Given the description of an element on the screen output the (x, y) to click on. 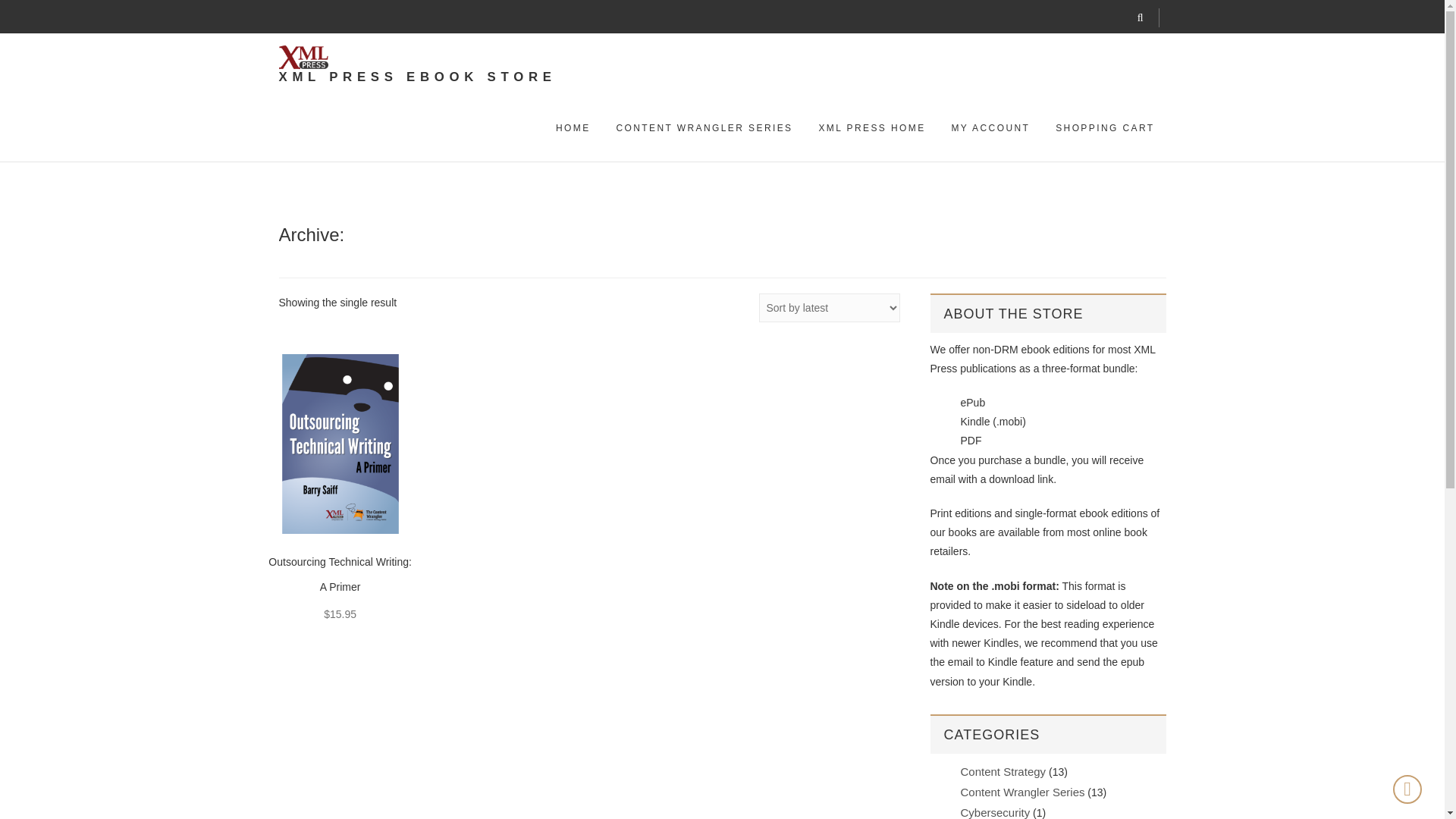
Cybersecurity (994, 812)
MY ACCOUNT (990, 128)
XML PRESS HOME (871, 128)
Go to Top (1407, 788)
HOME (573, 128)
Content Strategy (1002, 771)
SHOPPING CART (1104, 128)
CONTENT WRANGLER SERIES (703, 128)
Content Wrangler Series (1021, 791)
